Given the description of an element on the screen output the (x, y) to click on. 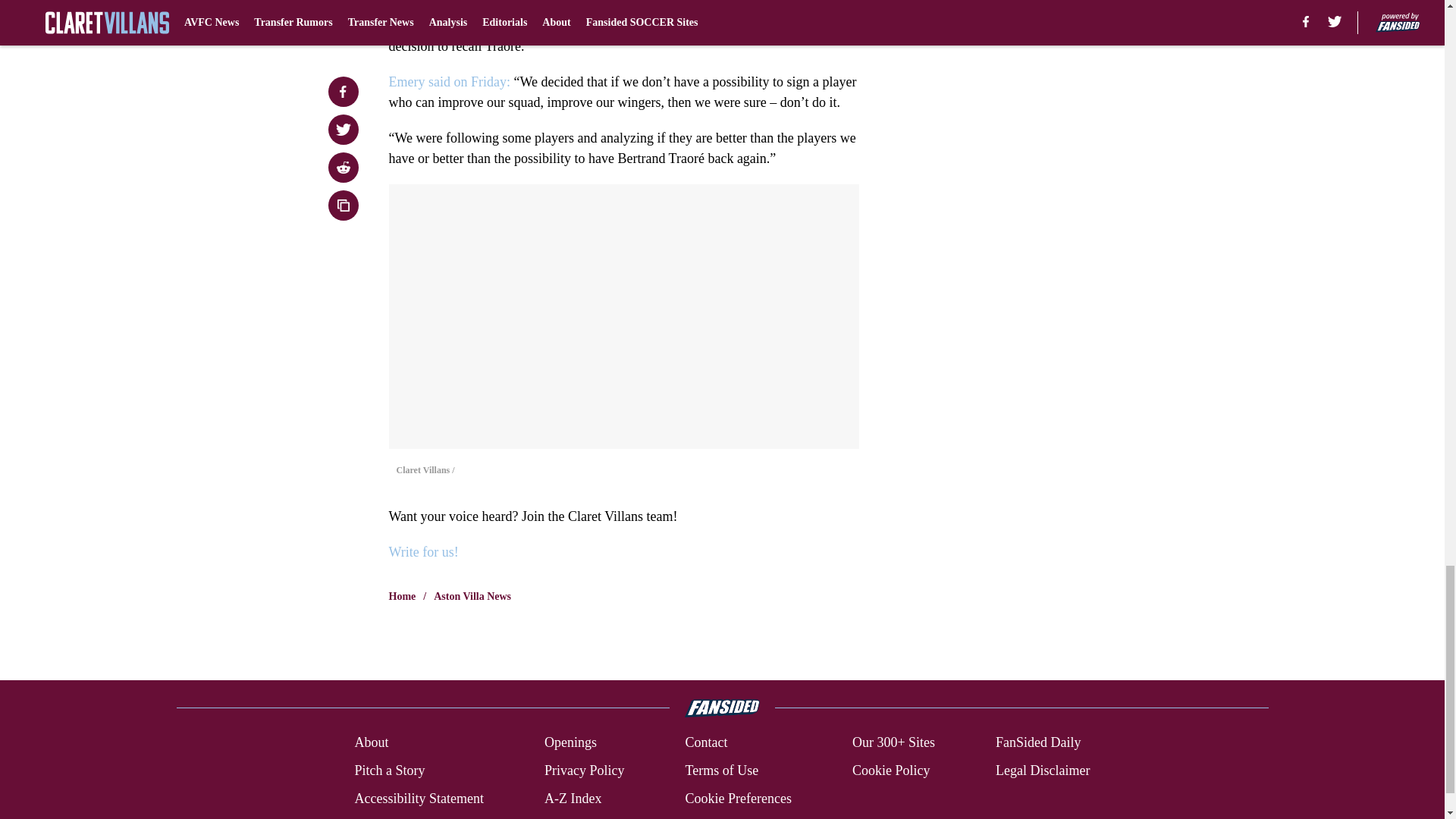
Privacy Policy (584, 770)
Pitch a Story (389, 770)
About (370, 742)
FanSided Daily (1038, 742)
Contact (705, 742)
Terms of Use (721, 770)
Aston Villa News (472, 596)
Legal Disclaimer (1042, 770)
Cookie Preferences (737, 798)
Accessibility Statement (418, 798)
